Given the description of an element on the screen output the (x, y) to click on. 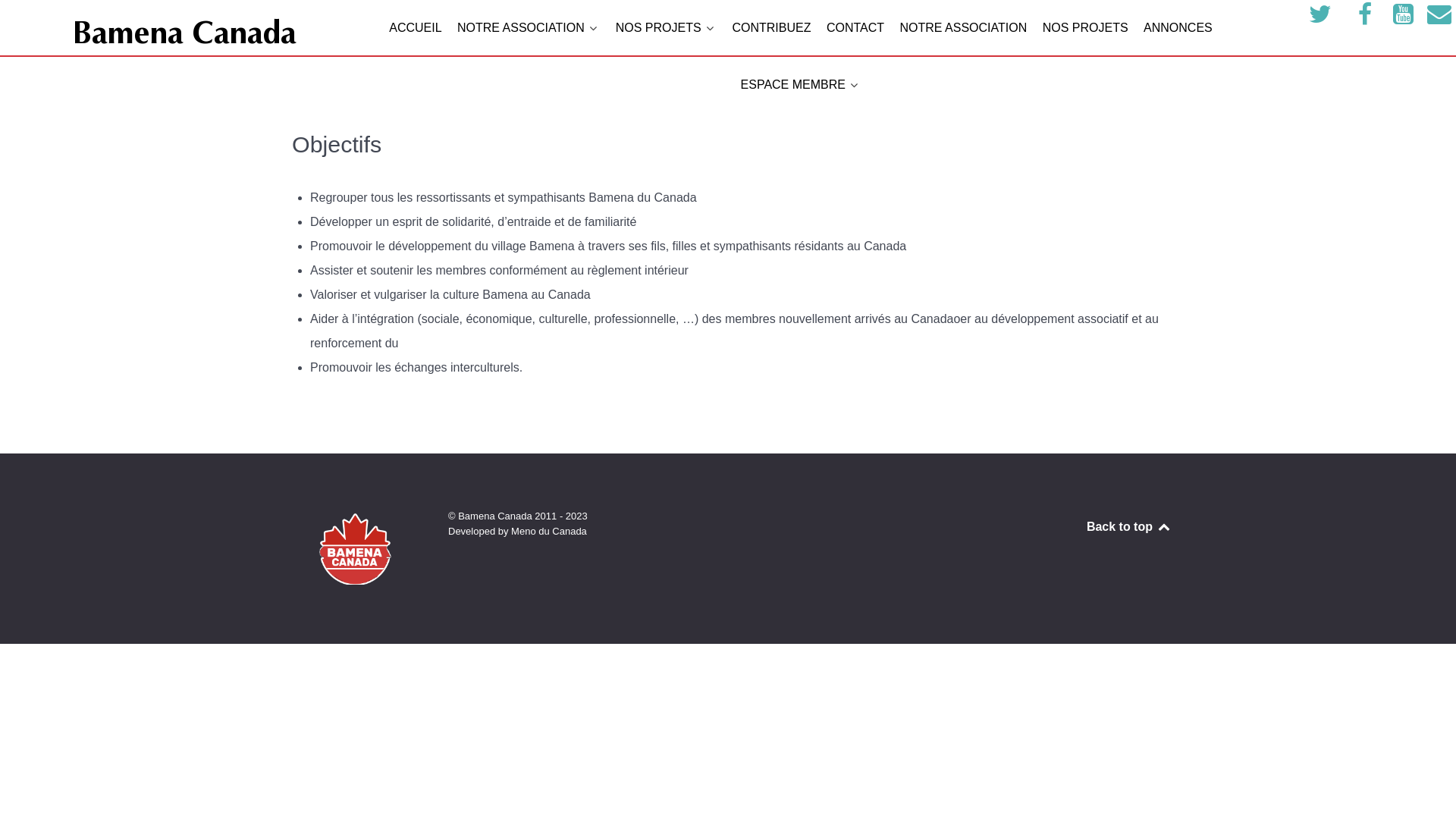
Bamena Canada Element type: hover (354, 548)
Back to top Element type: text (1128, 526)
ACCUEIL Element type: text (415, 29)
CONTRIBUEZ Element type: text (770, 29)
CONTACT Element type: text (855, 29)
NOTRE ASSOCIATION Element type: text (528, 29)
ANNONCES Element type: text (1177, 29)
ESPACE MEMBRE Element type: text (800, 86)
NOS PROJETS Element type: text (665, 29)
Bamena Canada Element type: hover (182, 34)
